Given the description of an element on the screen output the (x, y) to click on. 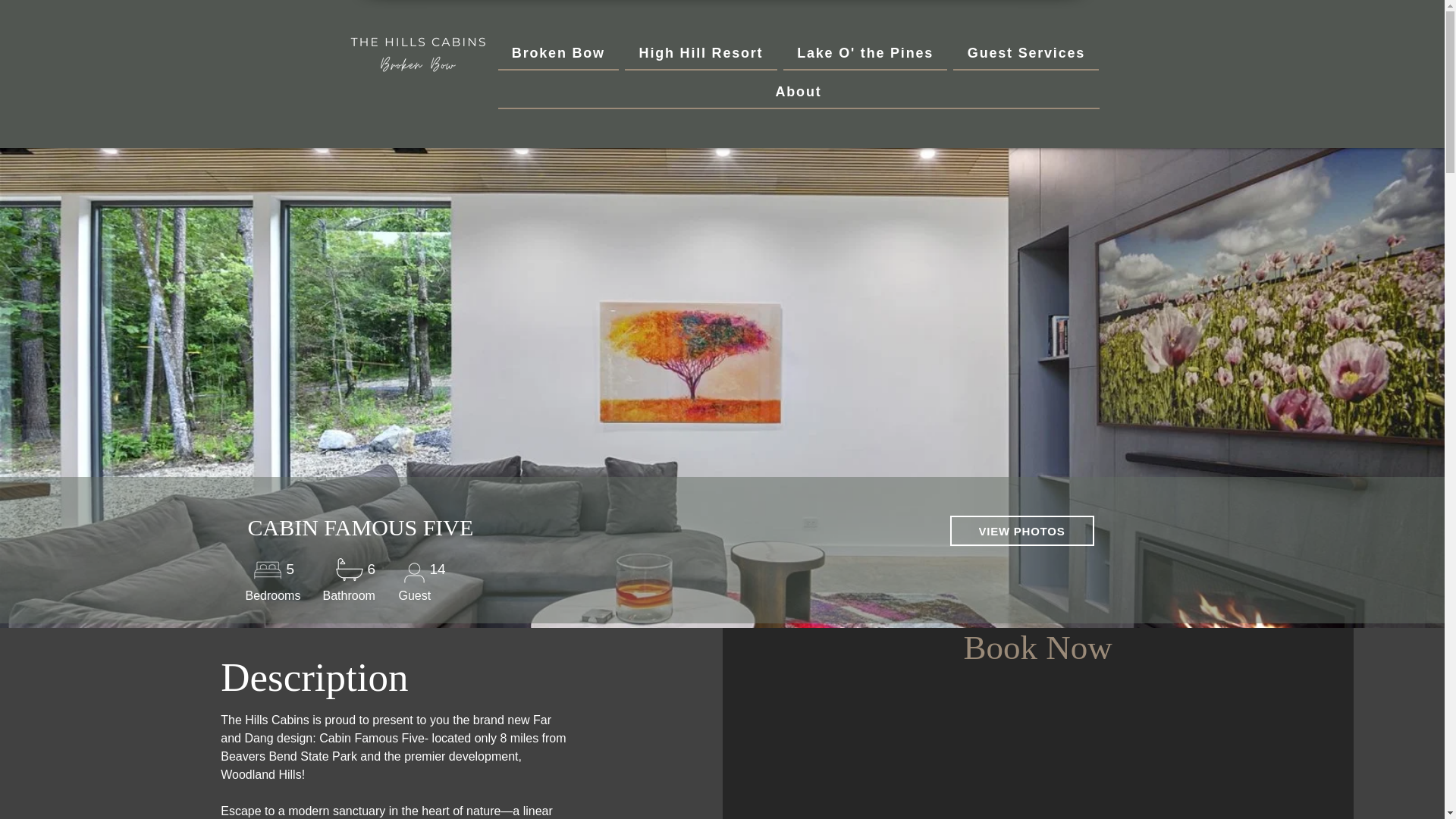
High Hill Resort (700, 53)
Broken Bow (557, 53)
